Given the description of an element on the screen output the (x, y) to click on. 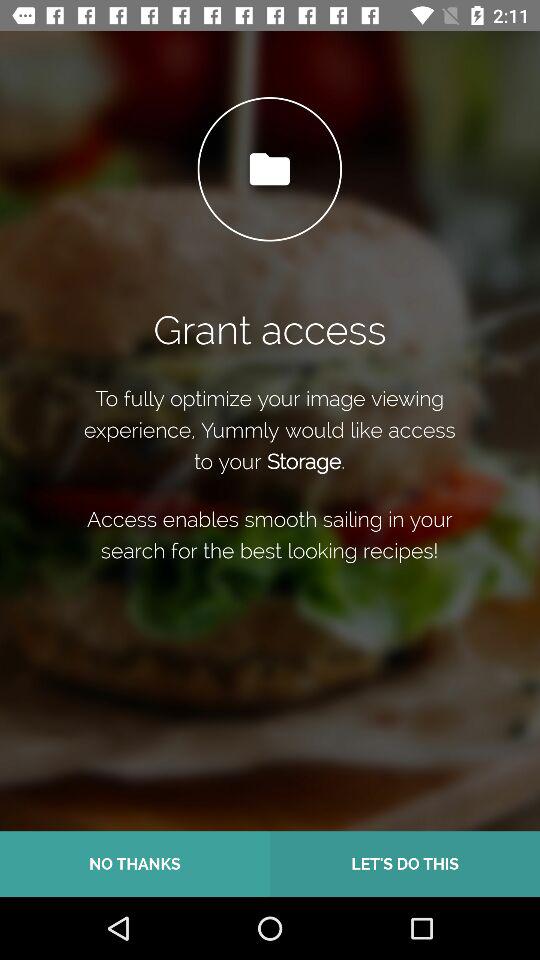
flip to let s do (405, 863)
